Given the description of an element on the screen output the (x, y) to click on. 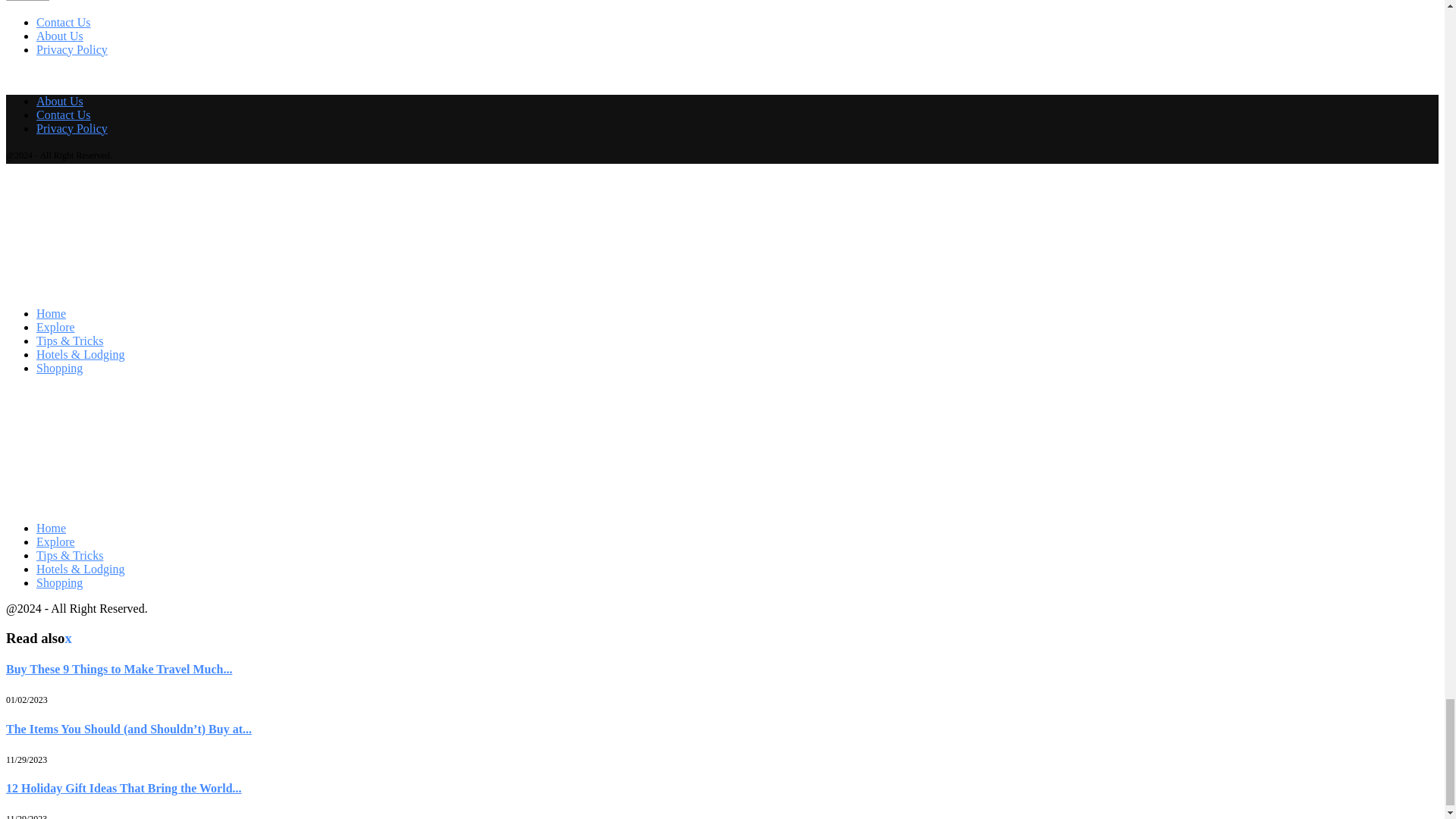
Submit (27, 0)
